Given the description of an element on the screen output the (x, y) to click on. 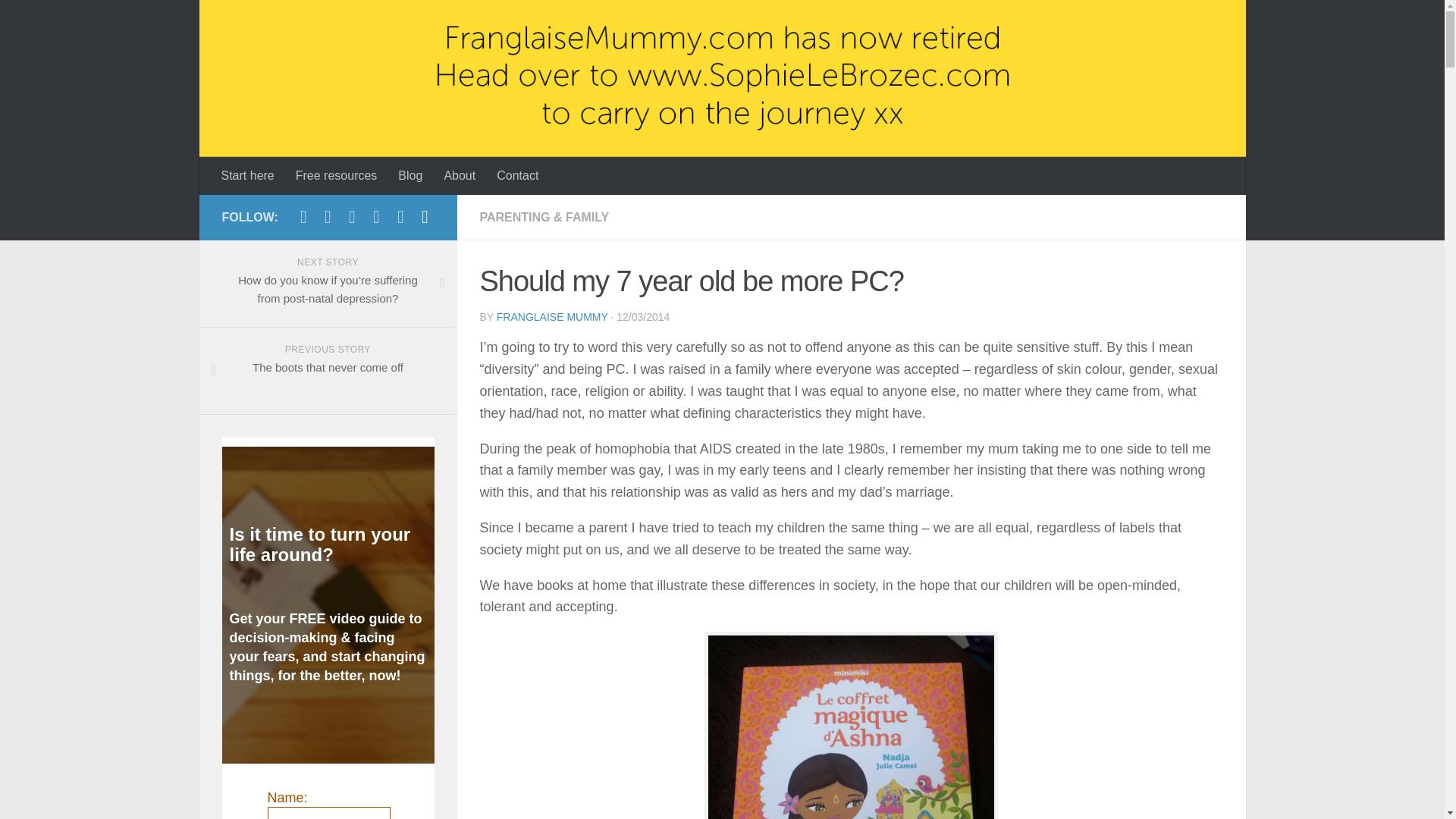
Posts by Franglaise Mummy (552, 316)
Blog (409, 175)
Facebook (303, 217)
Twitter (375, 217)
YouTube (327, 217)
Free resources (336, 175)
Contact (517, 175)
FRANGLAISE MUMMY (552, 316)
Instagram (351, 217)
Pinterest (400, 217)
About (459, 175)
Start here (248, 175)
Google Plus (423, 217)
